Given the description of an element on the screen output the (x, y) to click on. 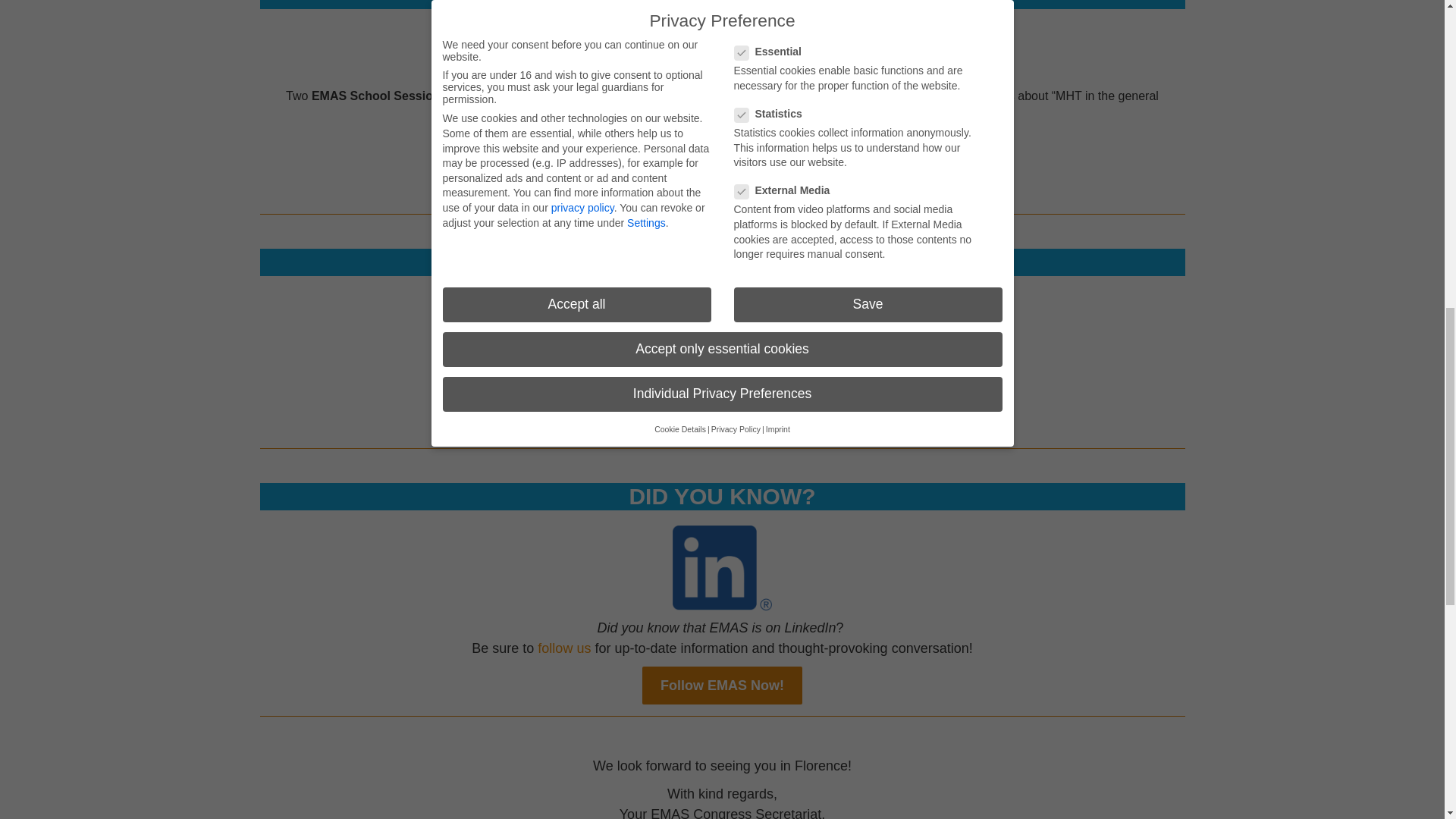
both virtually and face to face (638, 54)
Follow EMAS Now! (722, 685)
follow us (564, 648)
Book Accommodation (721, 394)
Scientific Programme (721, 160)
